Given the description of an element on the screen output the (x, y) to click on. 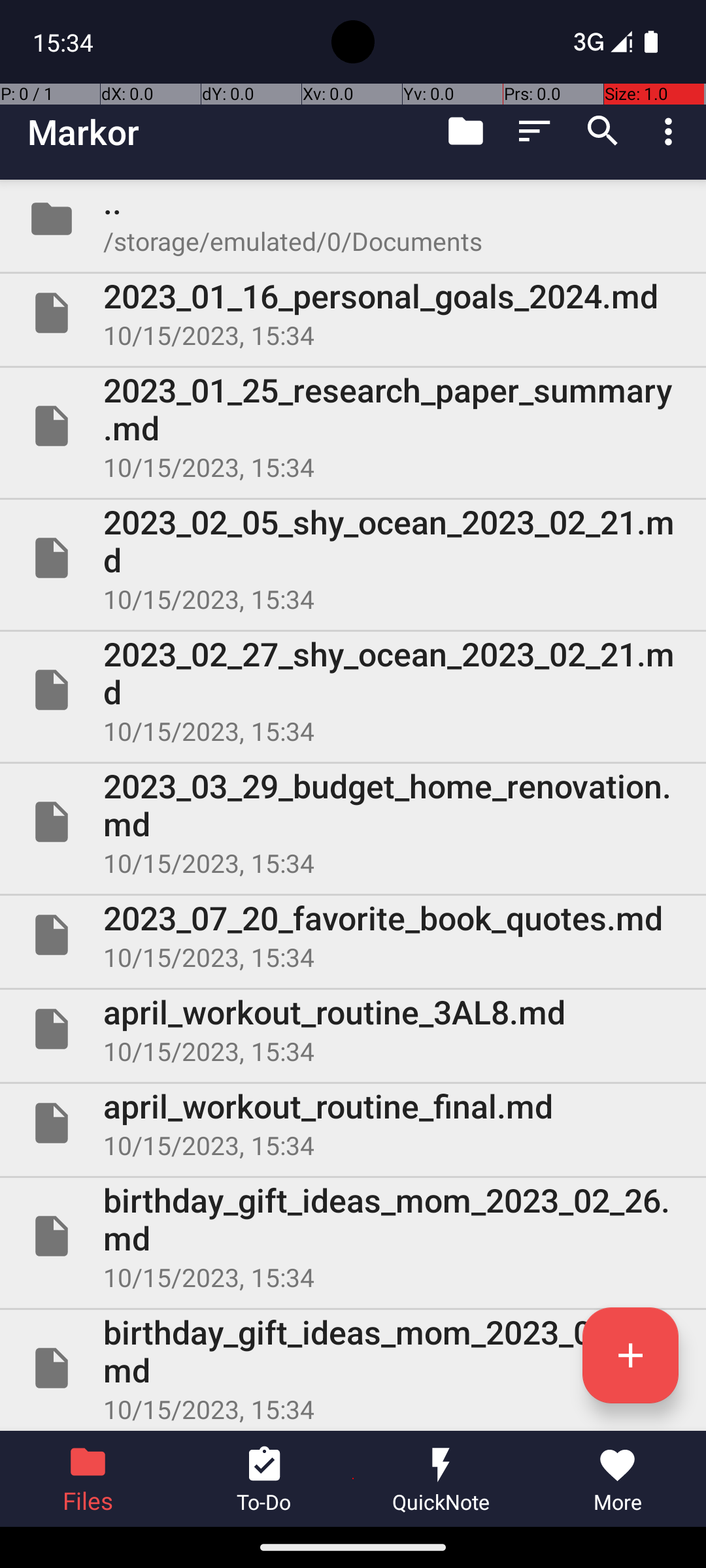
File 2023_01_16_personal_goals_2024.md  Element type: android.widget.LinearLayout (353, 312)
File 2023_01_25_research_paper_summary.md  Element type: android.widget.LinearLayout (353, 425)
File 2023_02_05_shy_ocean_2023_02_21.md  Element type: android.widget.LinearLayout (353, 557)
File 2023_02_27_shy_ocean_2023_02_21.md  Element type: android.widget.LinearLayout (353, 689)
File 2023_03_29_budget_home_renovation.md  Element type: android.widget.LinearLayout (353, 821)
File 2023_07_20_favorite_book_quotes.md  Element type: android.widget.LinearLayout (353, 934)
File april_workout_routine_3AL8.md  Element type: android.widget.LinearLayout (353, 1028)
File april_workout_routine_final.md  Element type: android.widget.LinearLayout (353, 1122)
File birthday_gift_ideas_mom_2023_02_26.md  Element type: android.widget.LinearLayout (353, 1235)
File birthday_gift_ideas_mom_2023_05_14.md  Element type: android.widget.LinearLayout (353, 1367)
